Given the description of an element on the screen output the (x, y) to click on. 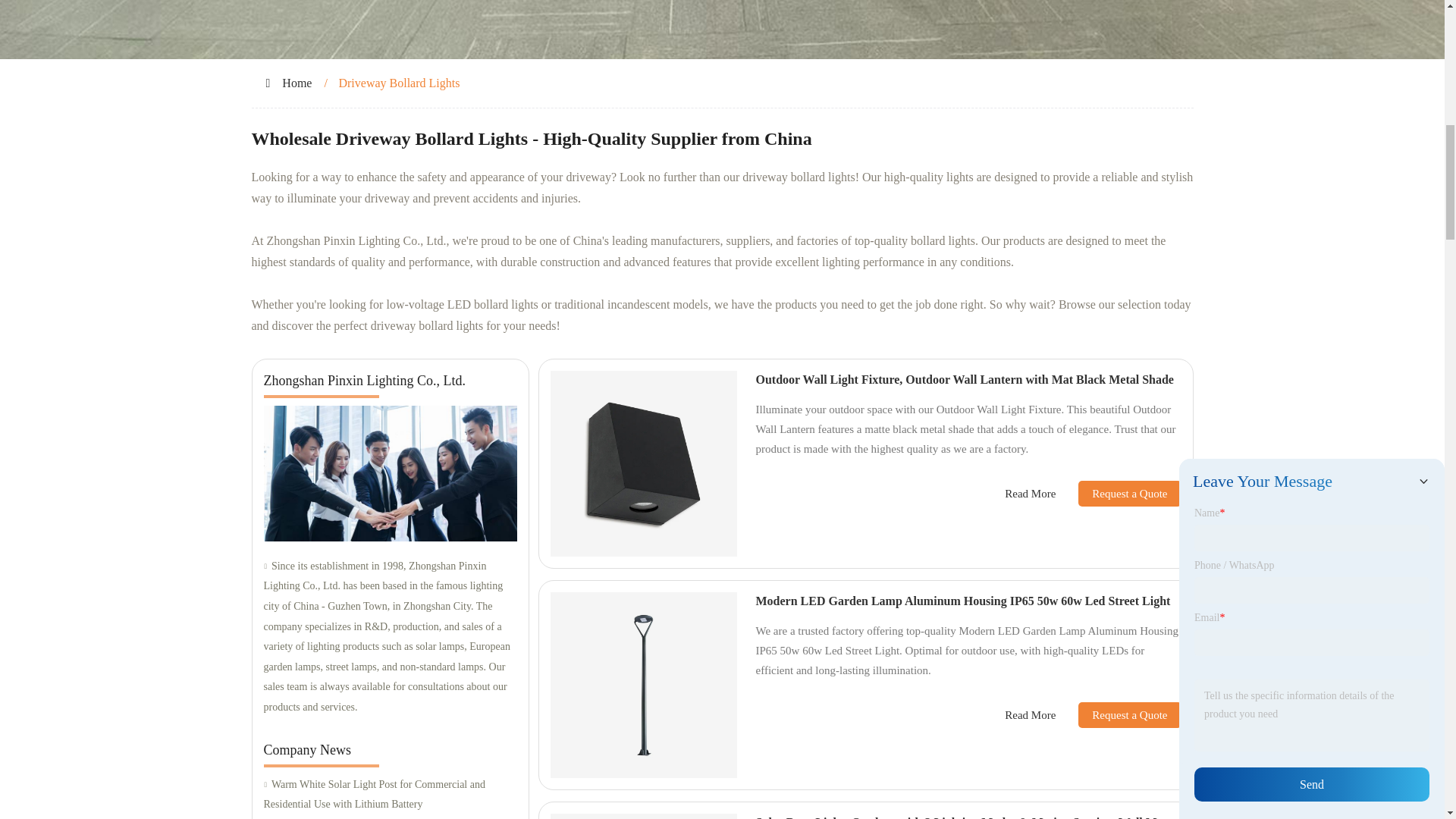
Request a Quote (1117, 493)
Read More (1029, 493)
Request a Quote (1117, 714)
Read More (1029, 714)
Home (296, 82)
